Given the description of an element on the screen output the (x, y) to click on. 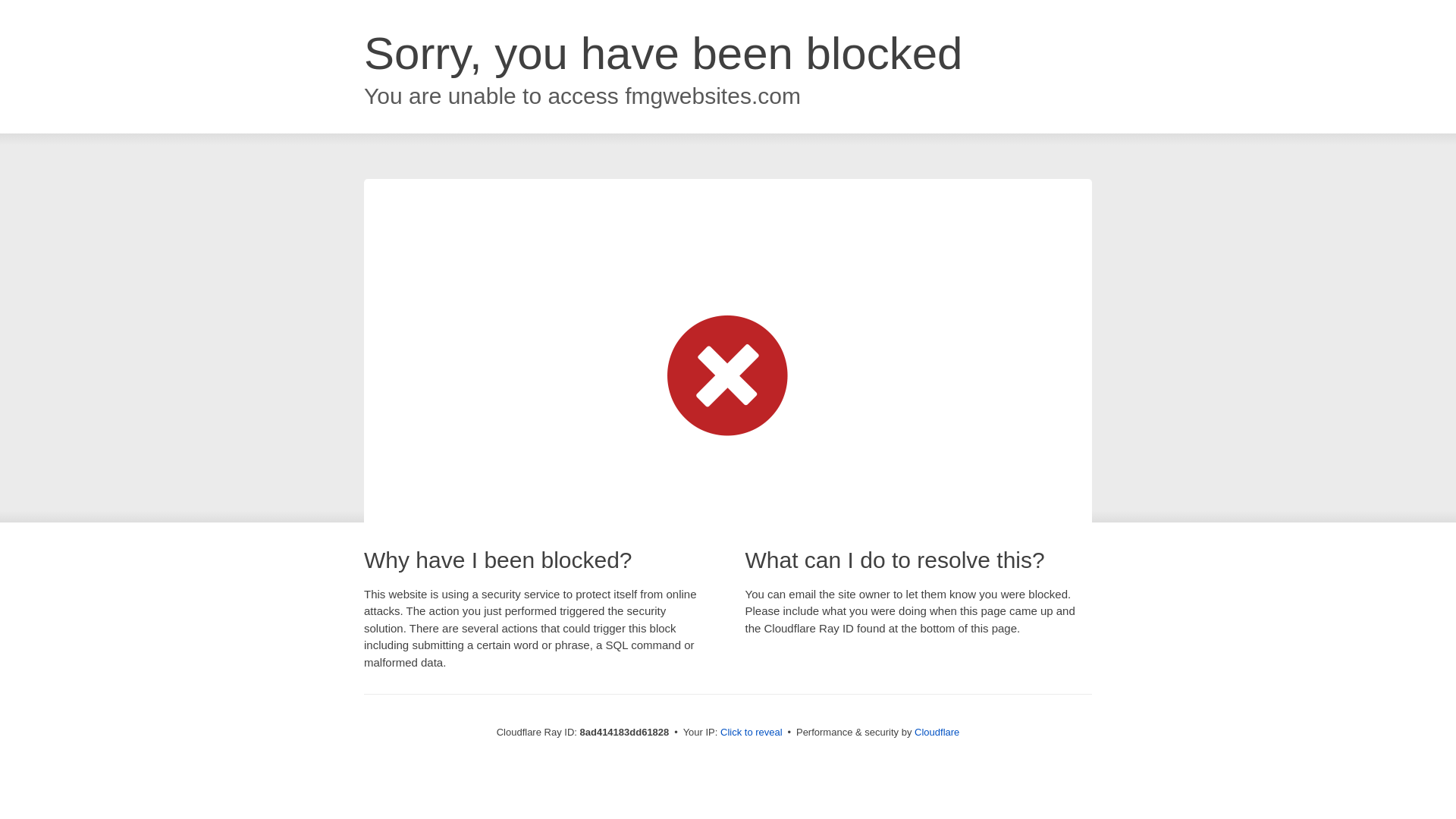
Cloudflare (936, 731)
Click to reveal (751, 732)
